Given the description of an element on the screen output the (x, y) to click on. 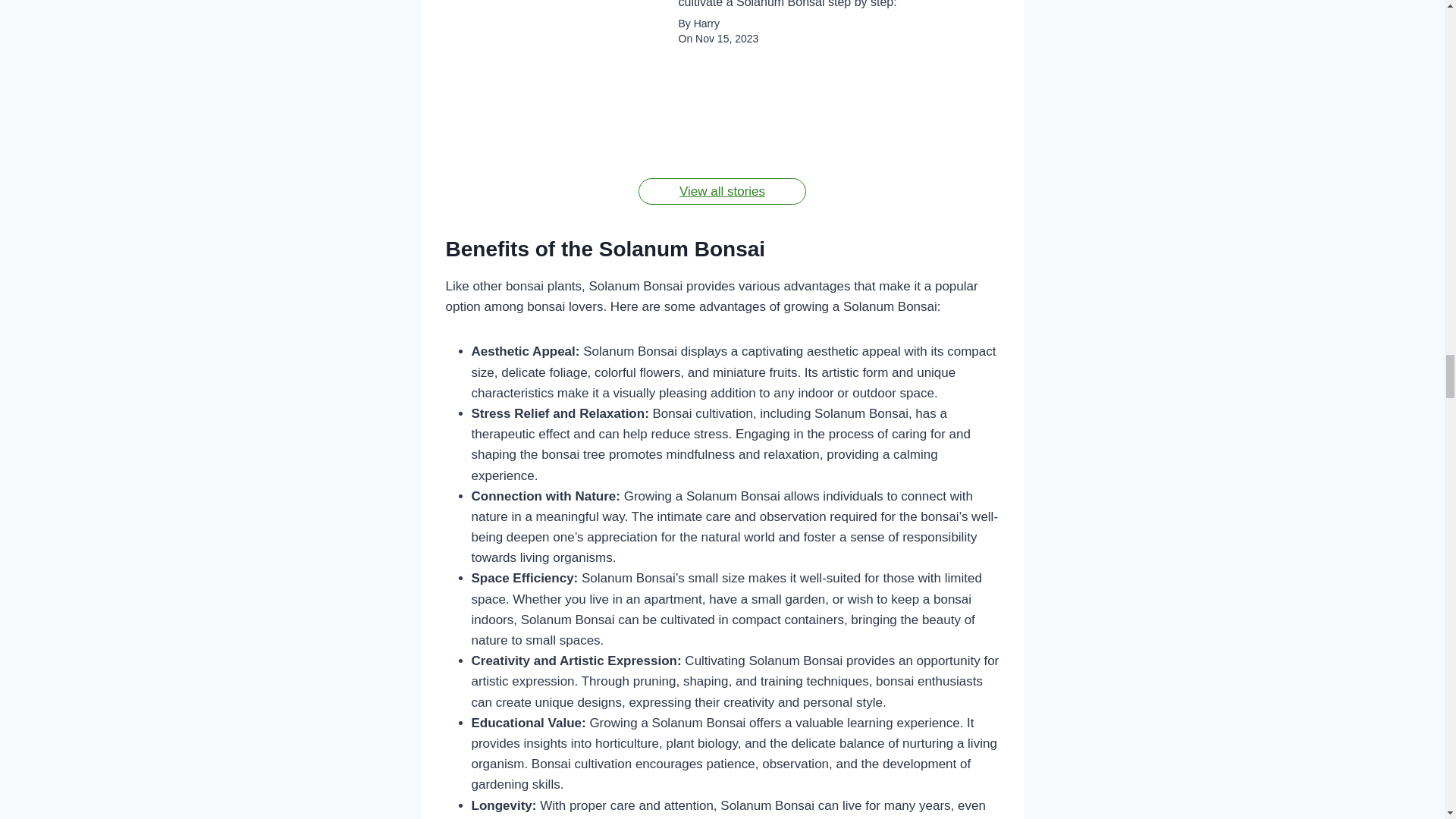
View all stories (722, 191)
